Given the description of an element on the screen output the (x, y) to click on. 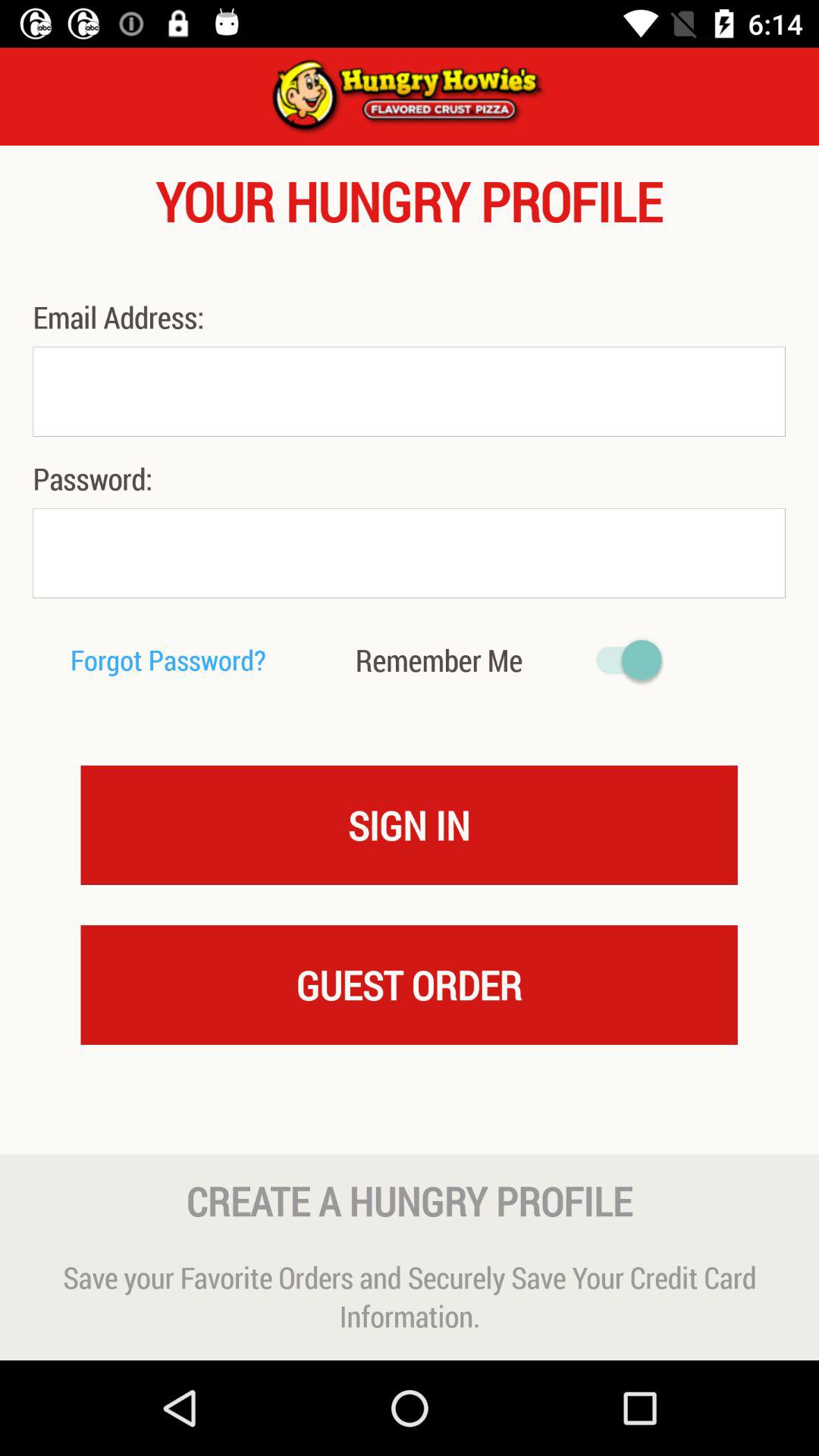
choose icon below the remember me (409, 824)
